Given the description of an element on the screen output the (x, y) to click on. 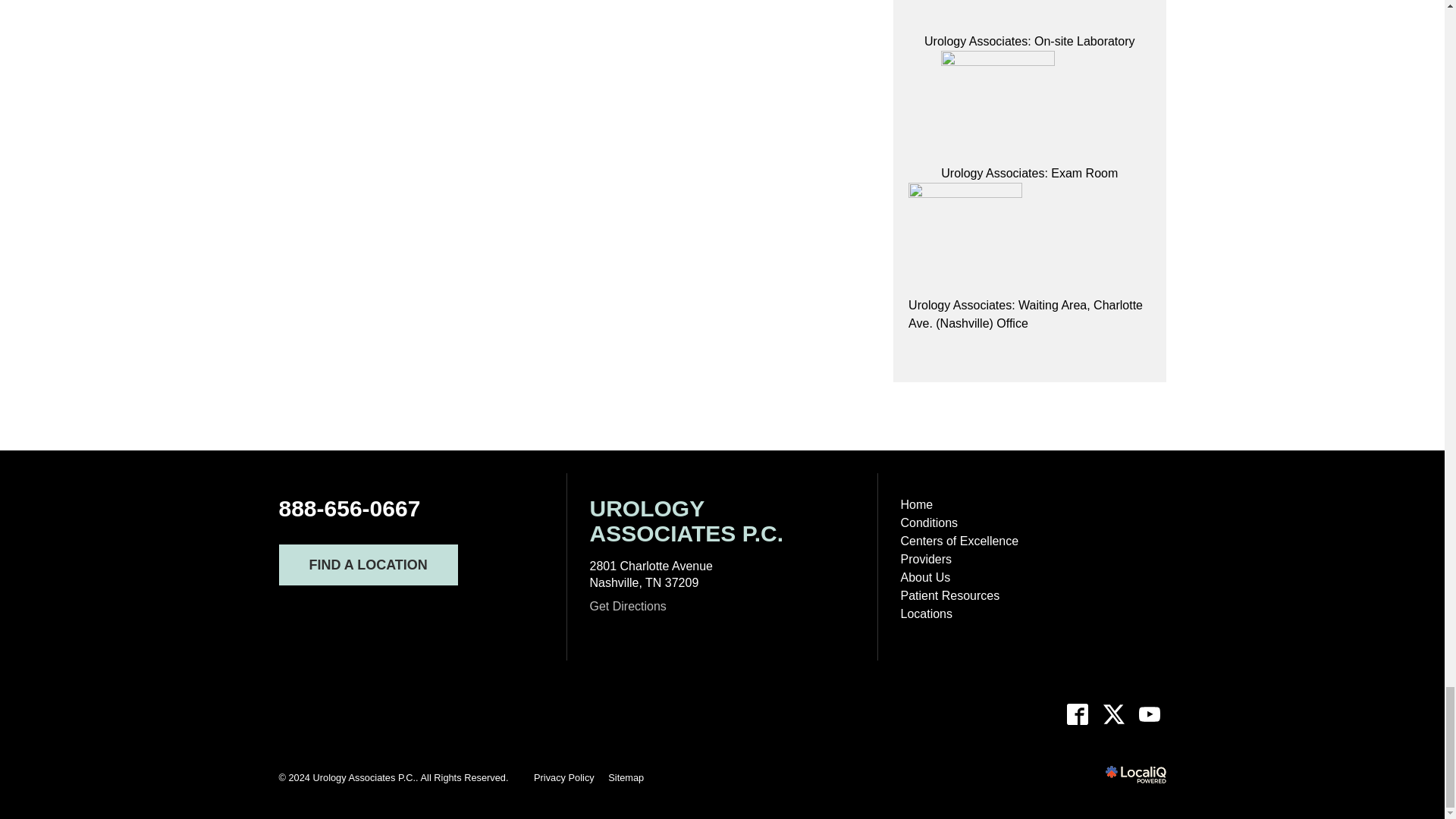
youtube (1149, 714)
facebook (1077, 714)
twitter (1113, 714)
